Given the description of an element on the screen output the (x, y) to click on. 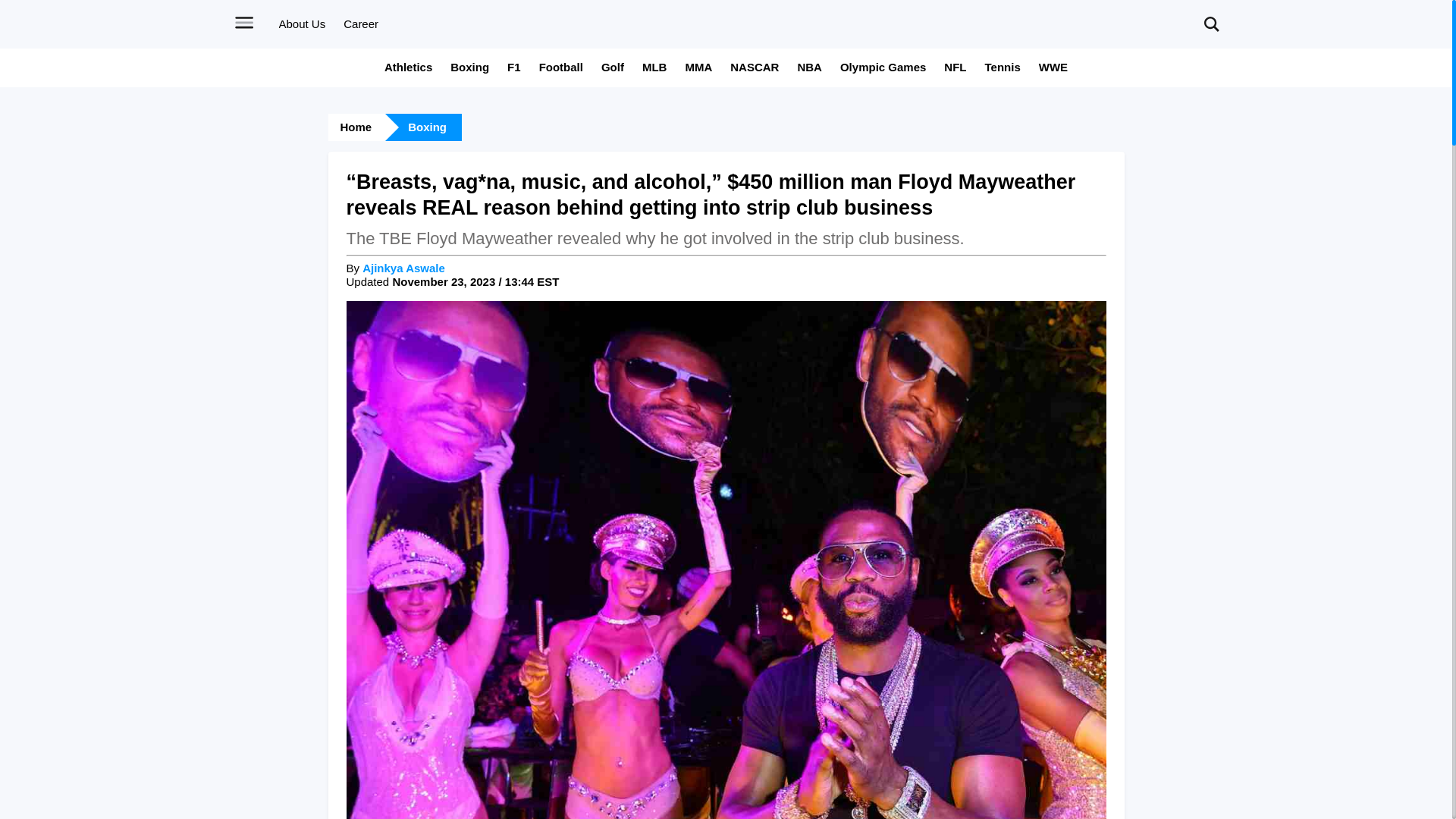
Golf (612, 66)
F1 (513, 66)
Olympic Games (883, 66)
MLB (654, 66)
FirstSportz (726, 36)
Career (360, 23)
Tennis (1002, 66)
WWE (1053, 66)
MMA (697, 66)
Athletics (408, 66)
NFL (954, 66)
NASCAR (754, 66)
Football (560, 66)
NBA (809, 66)
About Us (302, 23)
